Given the description of an element on the screen output the (x, y) to click on. 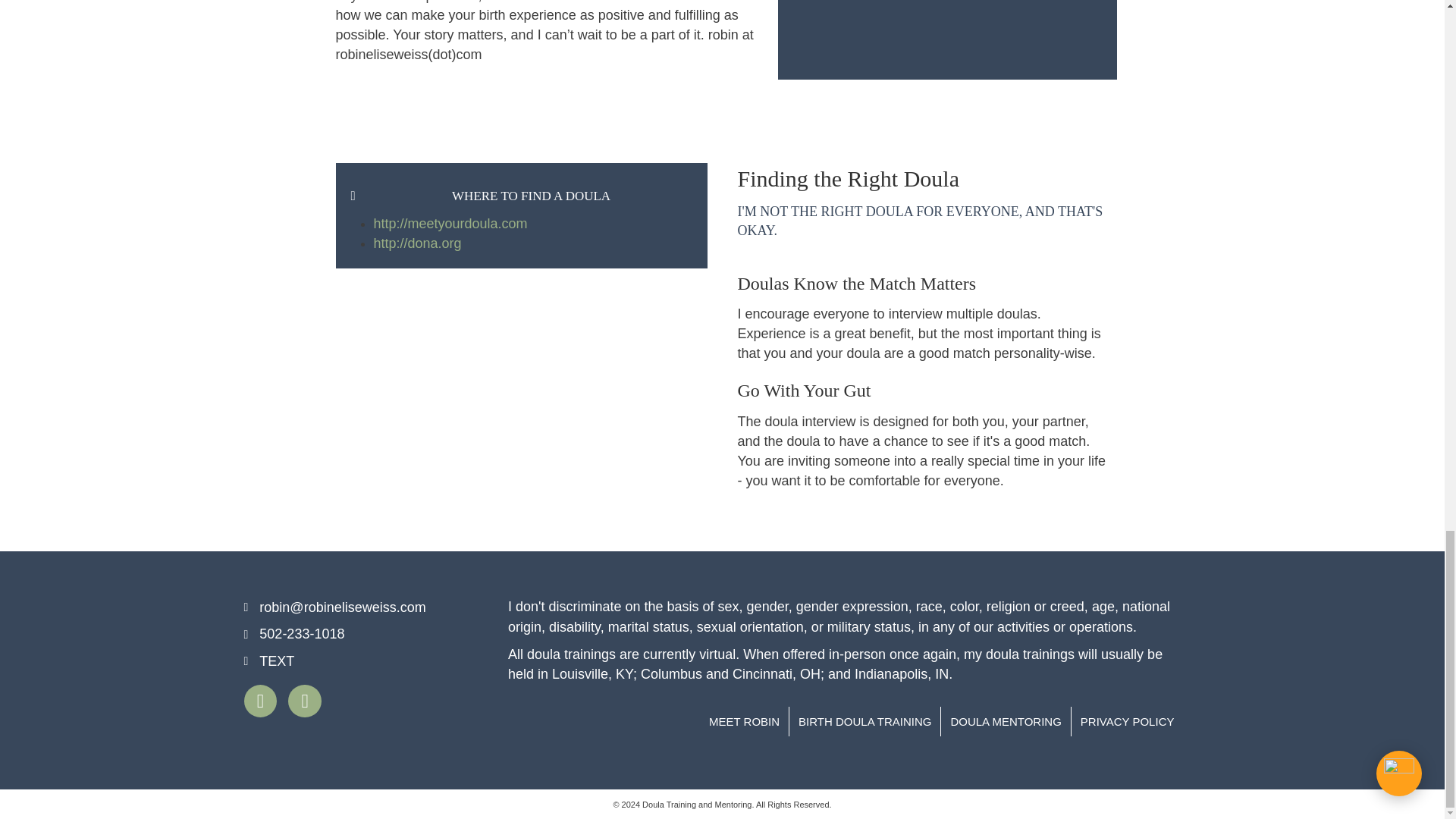
502-233-1018 (301, 633)
PRIVACY POLICY (1127, 721)
DOULA MENTORING (1005, 721)
TEXT (276, 660)
MEET ROBIN (744, 721)
BIRTH DOULA TRAINING (864, 721)
